Given the description of an element on the screen output the (x, y) to click on. 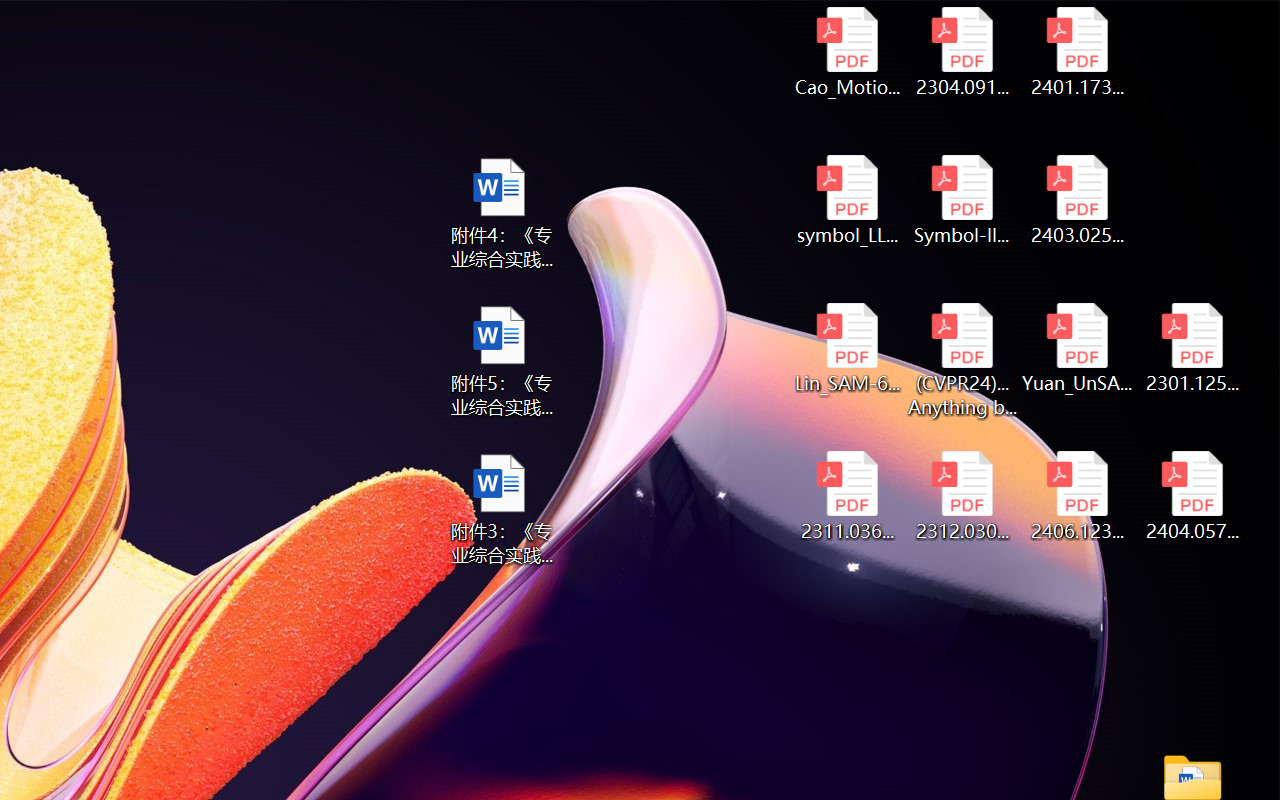
2301.12597v3.pdf (1192, 348)
symbol_LLM.pdf (846, 200)
